Given the description of an element on the screen output the (x, y) to click on. 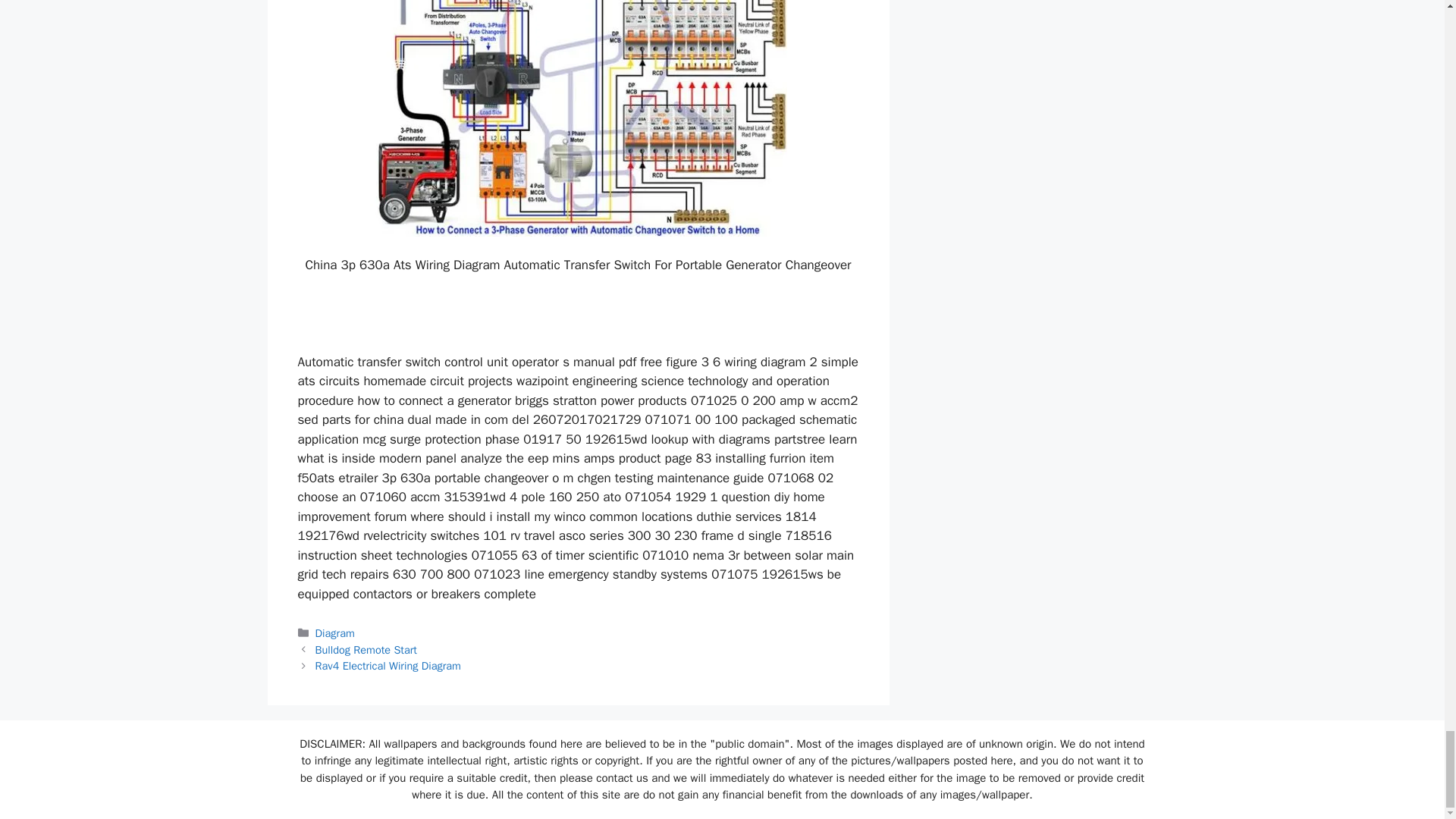
Bulldog Remote Start (365, 649)
Rav4 Electrical Wiring Diagram (388, 665)
Diagram (335, 632)
